Given the description of an element on the screen output the (x, y) to click on. 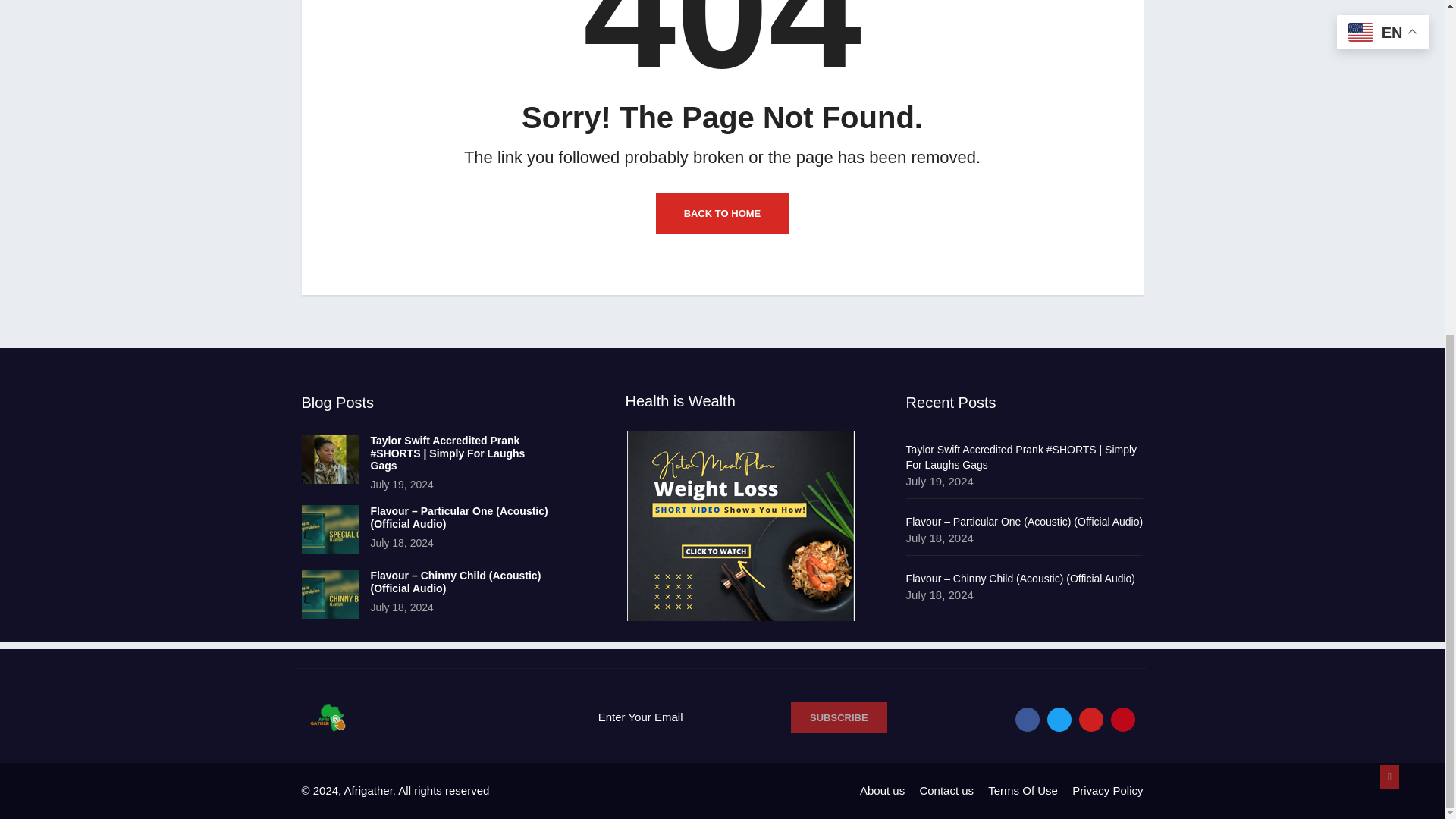
SUBSCRIBE (838, 717)
Terms Of Use (1023, 789)
About us (882, 789)
Contact us (946, 789)
BACK TO HOME (722, 213)
